Given the description of an element on the screen output the (x, y) to click on. 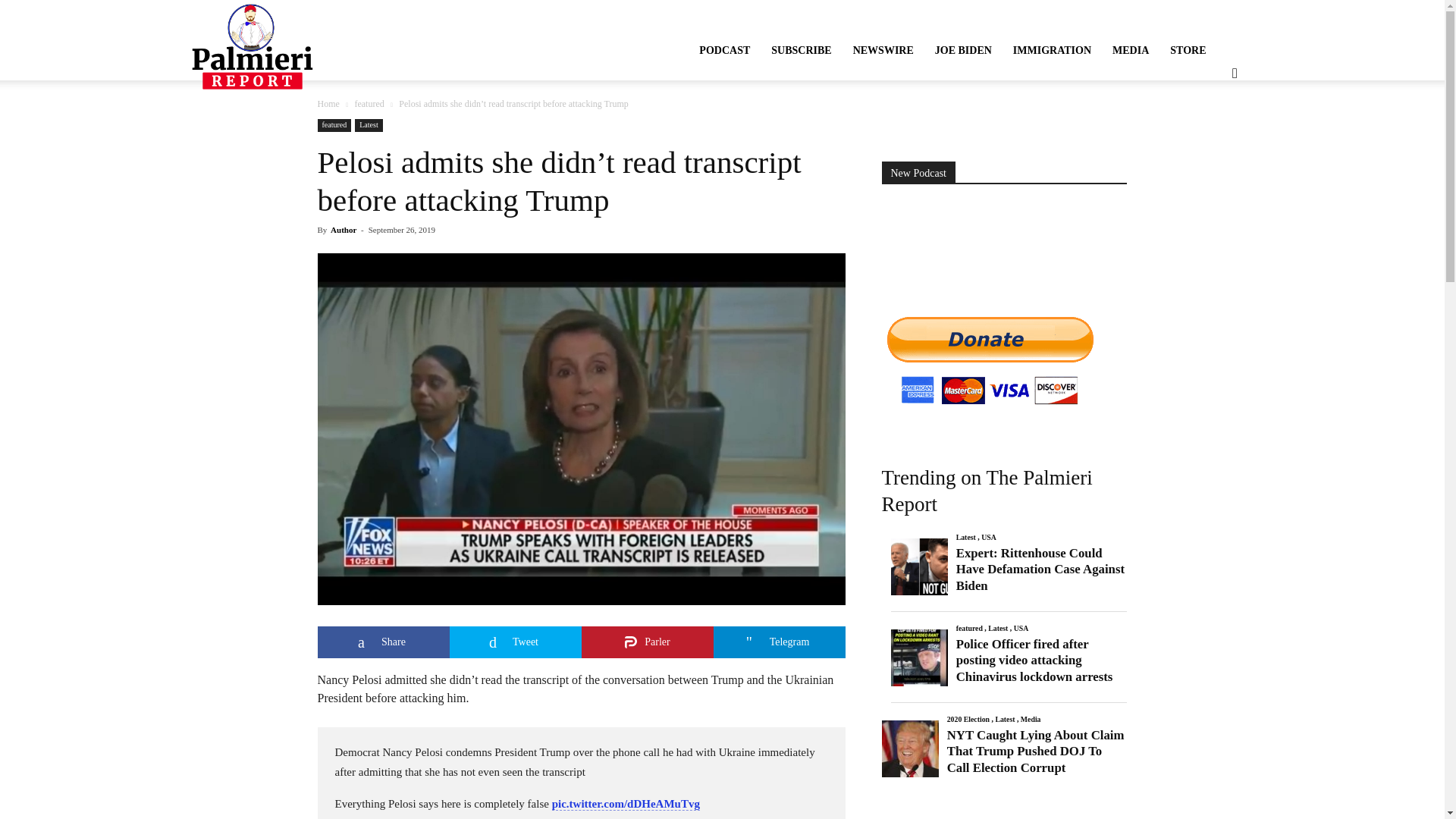
Home (328, 103)
IMMIGRATION (1052, 50)
Share on Telegram (778, 642)
Share (382, 642)
Tweet (514, 642)
STORE (1186, 50)
featured (333, 124)
NEWSWIRE (883, 50)
Author (343, 229)
